Given the description of an element on the screen output the (x, y) to click on. 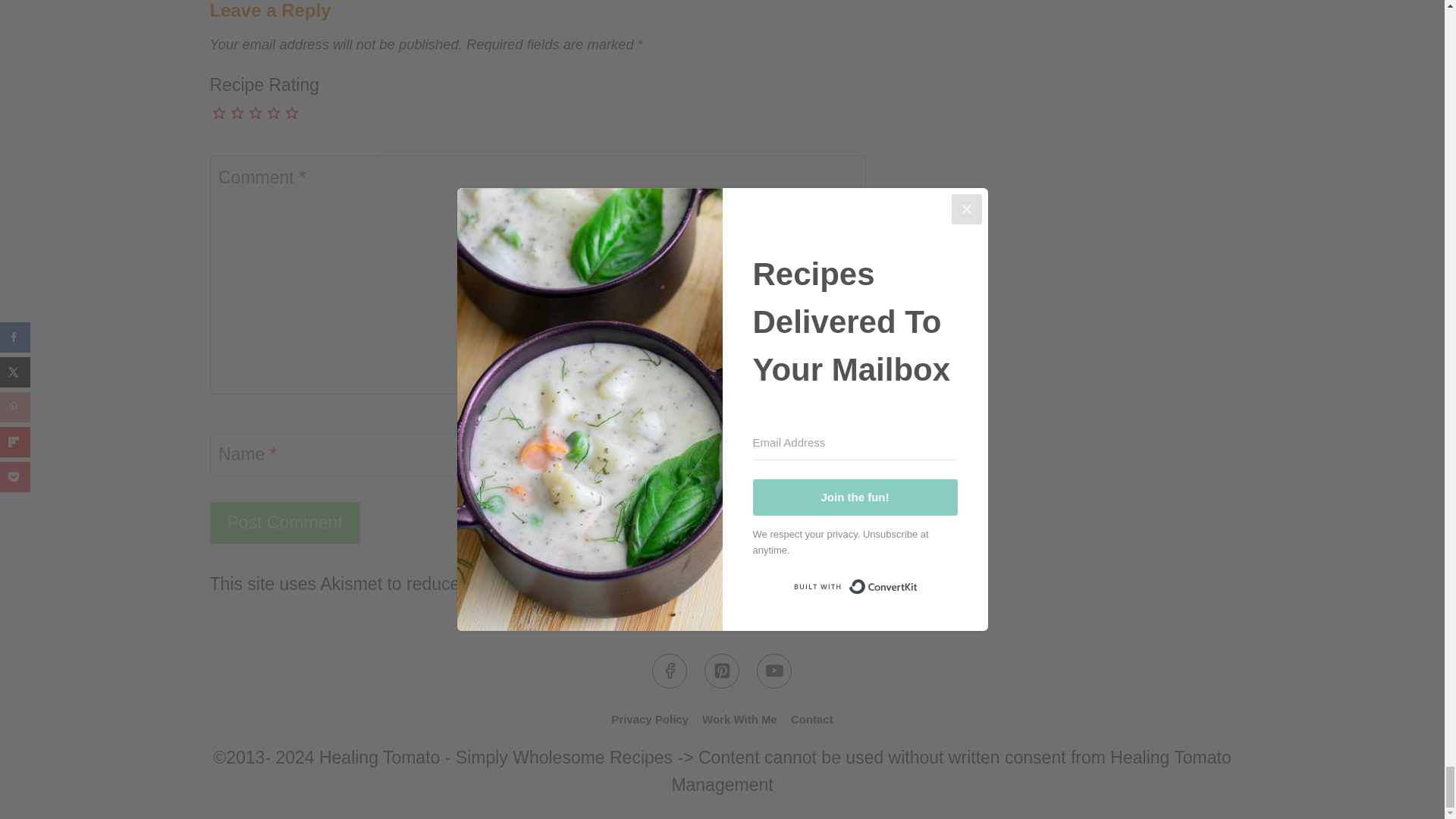
Post Comment (284, 522)
